Given the description of an element on the screen output the (x, y) to click on. 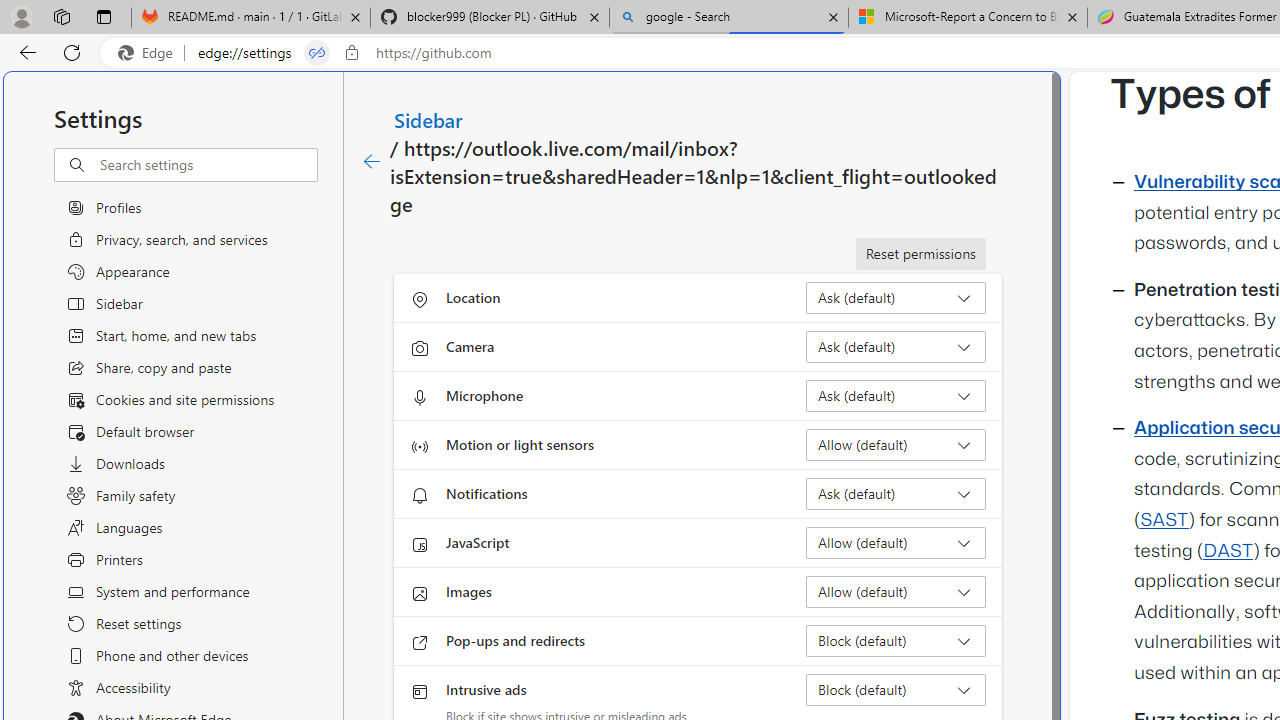
Workspaces (61, 16)
JavaScript Allow (default) (895, 542)
Images Allow (default) (895, 591)
Edge (150, 53)
Intrusive ads Block (default) (895, 689)
SAST (1164, 520)
Class: c01182 (371, 161)
Tabs in split screen (317, 53)
Reset permissions (920, 254)
Camera Ask (default) (895, 346)
